Given the description of an element on the screen output the (x, y) to click on. 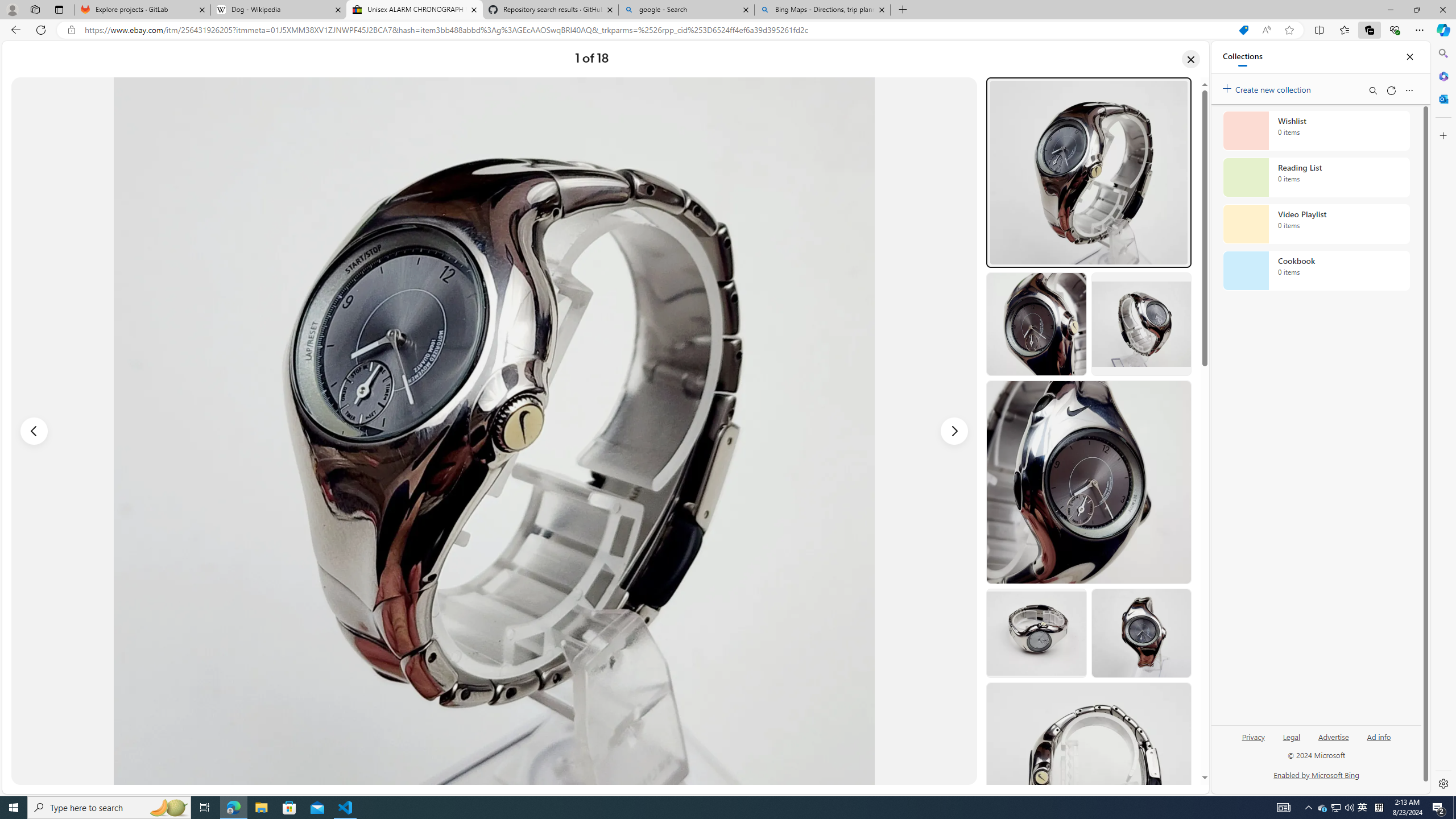
More options menu (1409, 90)
Next image - Item images thumbnails (954, 430)
